Given the description of an element on the screen output the (x, y) to click on. 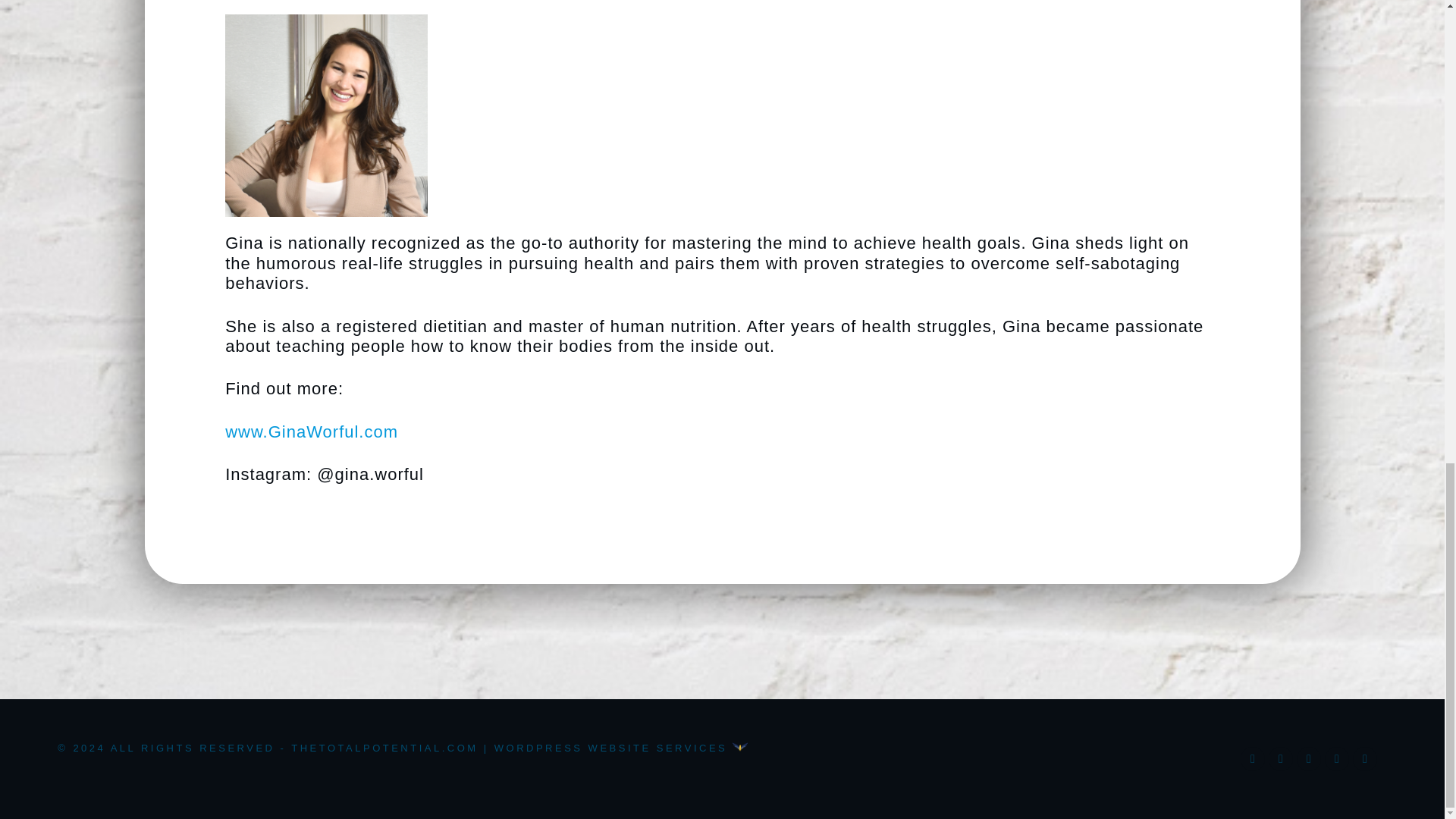
www.GinaWorful.com (311, 431)
WORDPRESS WEBSITE SERVICES (621, 747)
